Given the description of an element on the screen output the (x, y) to click on. 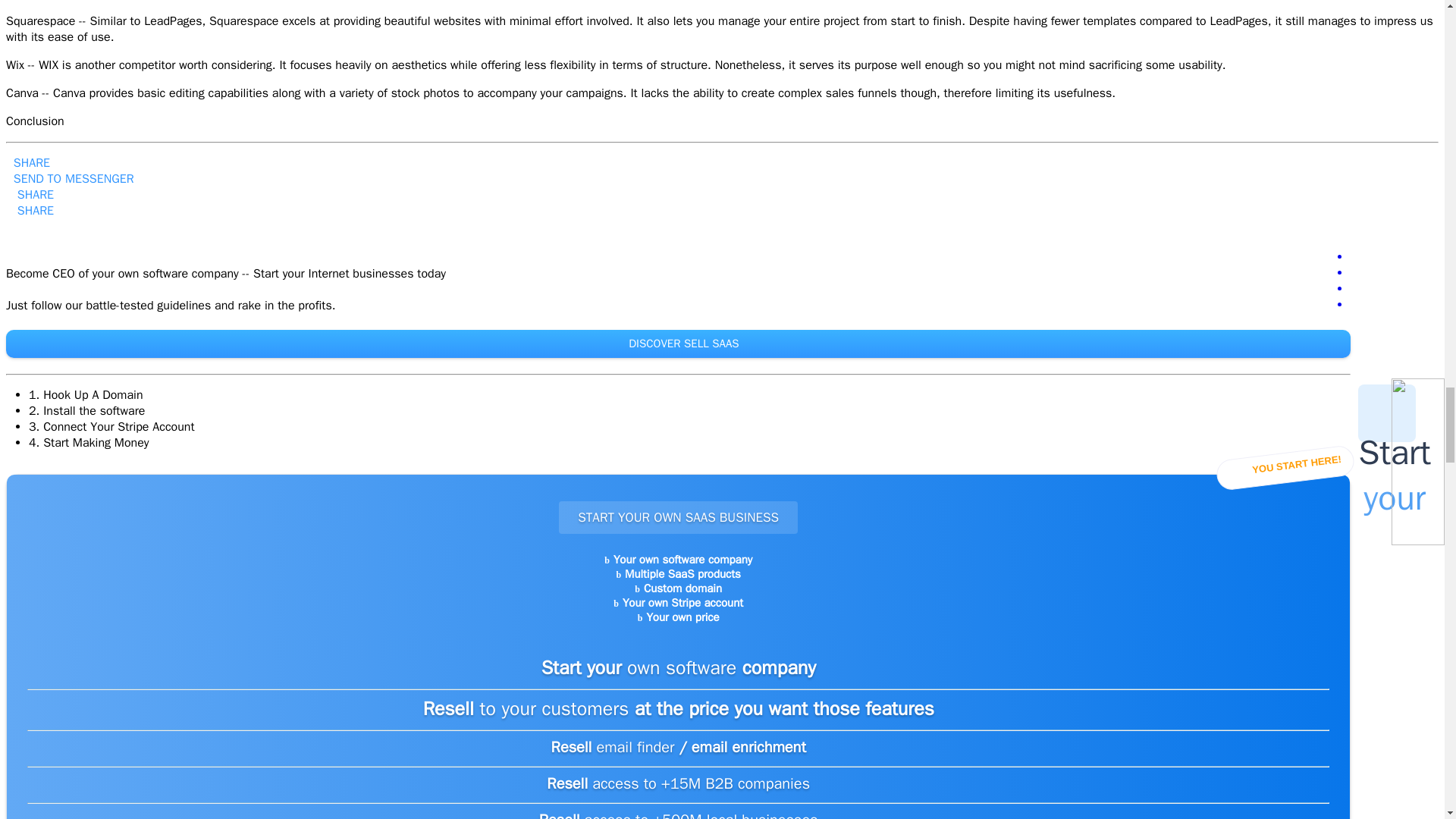
DISCOVER SELL SAAS (681, 343)
SHARE (29, 194)
DISCOVER SELL SAAS (678, 343)
SEND TO MESSENGER (69, 178)
SHARE (27, 162)
Discover Sell SaaS (681, 343)
SHARE (29, 210)
